Given the description of an element on the screen output the (x, y) to click on. 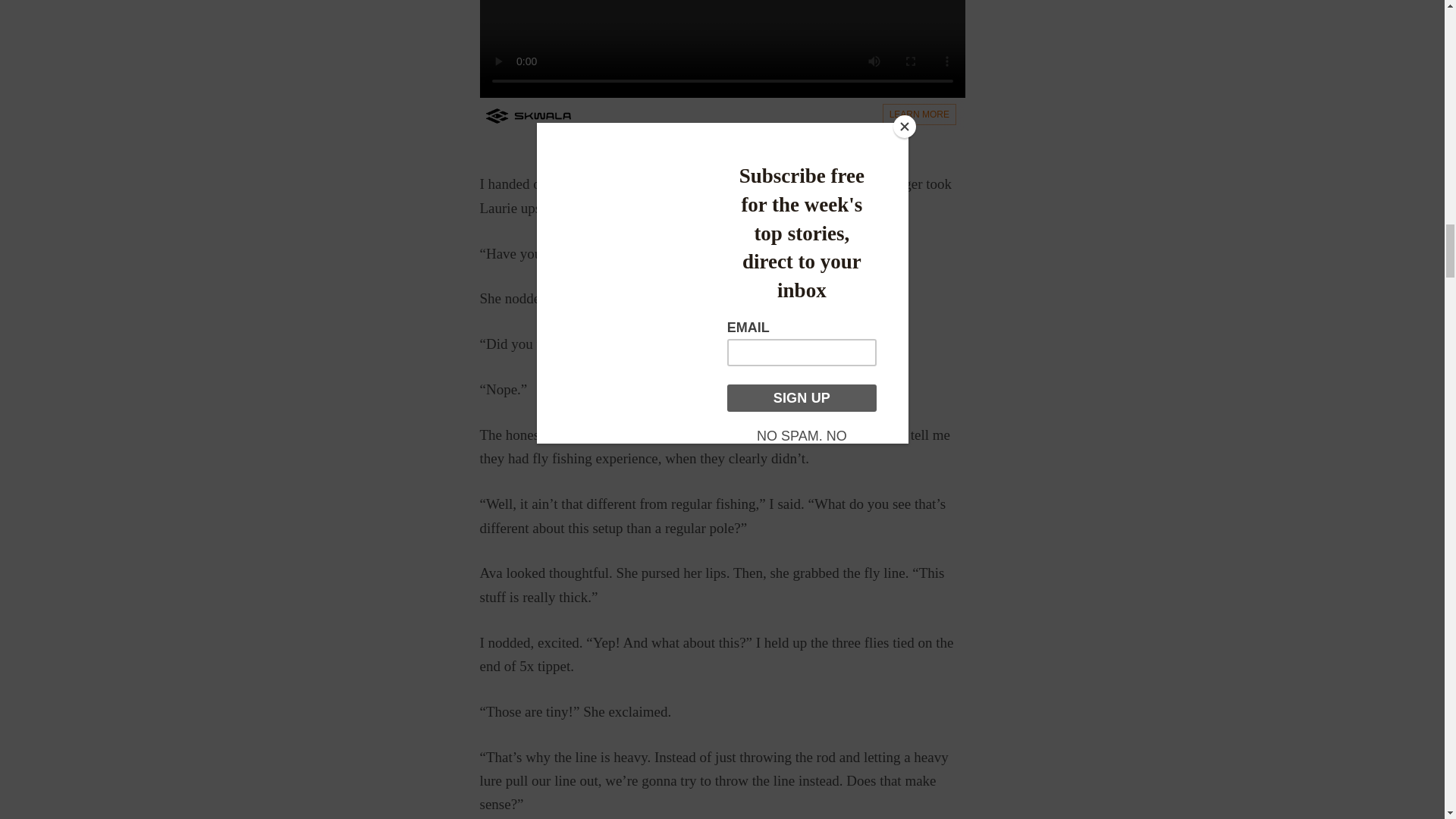
3rd party ad content (721, 64)
